Given the description of an element on the screen output the (x, y) to click on. 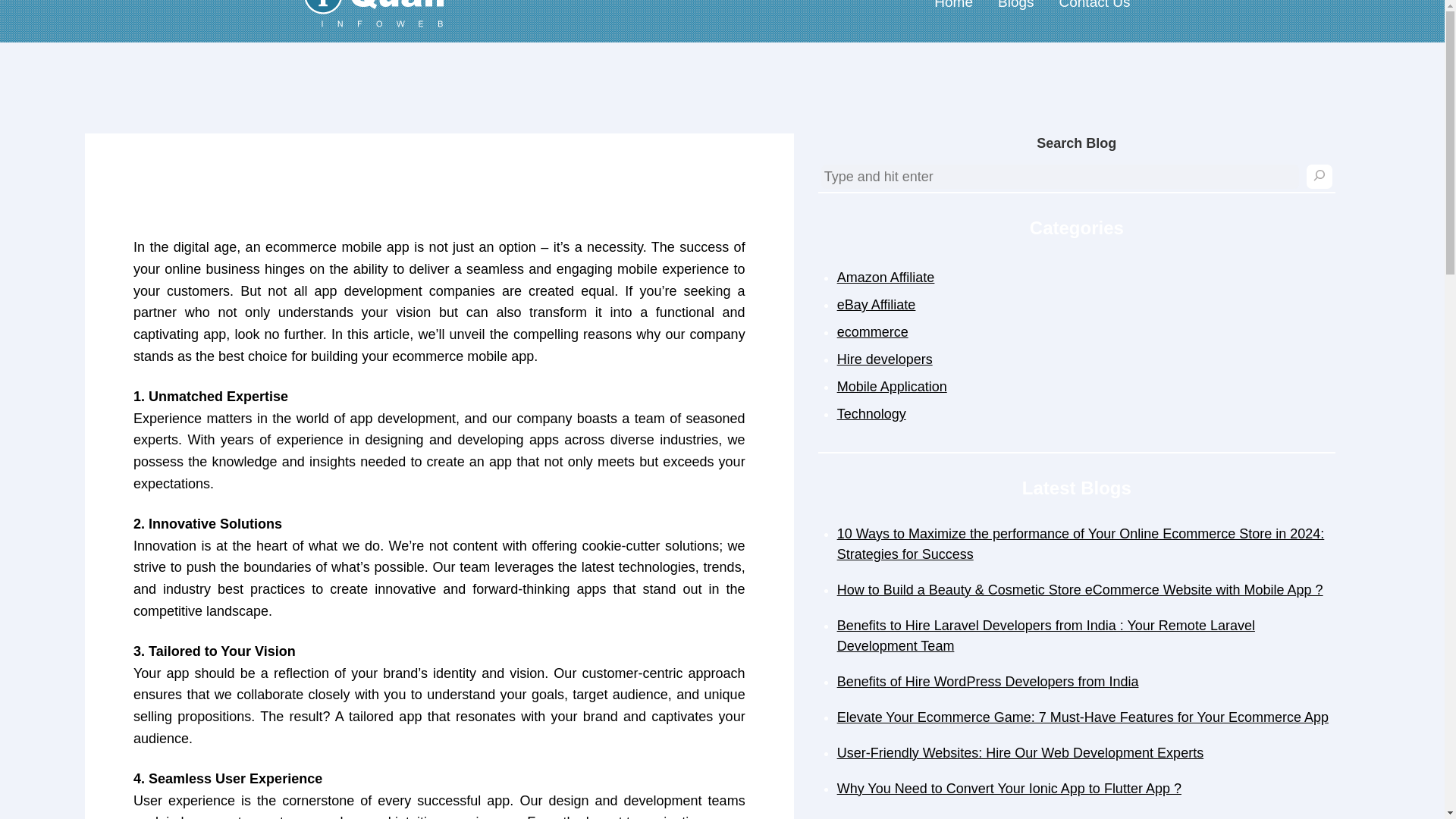
Technology (871, 413)
eBay Affiliate (876, 304)
Mobile Application (892, 386)
ecommerce (872, 331)
Blogs (1014, 10)
Contact Us (1093, 10)
Why You Need to Convert Your Ionic App to Flutter App ? (1008, 788)
Home (952, 10)
Amazon Affiliate (885, 277)
Hire developers (885, 359)
Benefits of Hire WordPress Developers from India (987, 681)
